Given the description of an element on the screen output the (x, y) to click on. 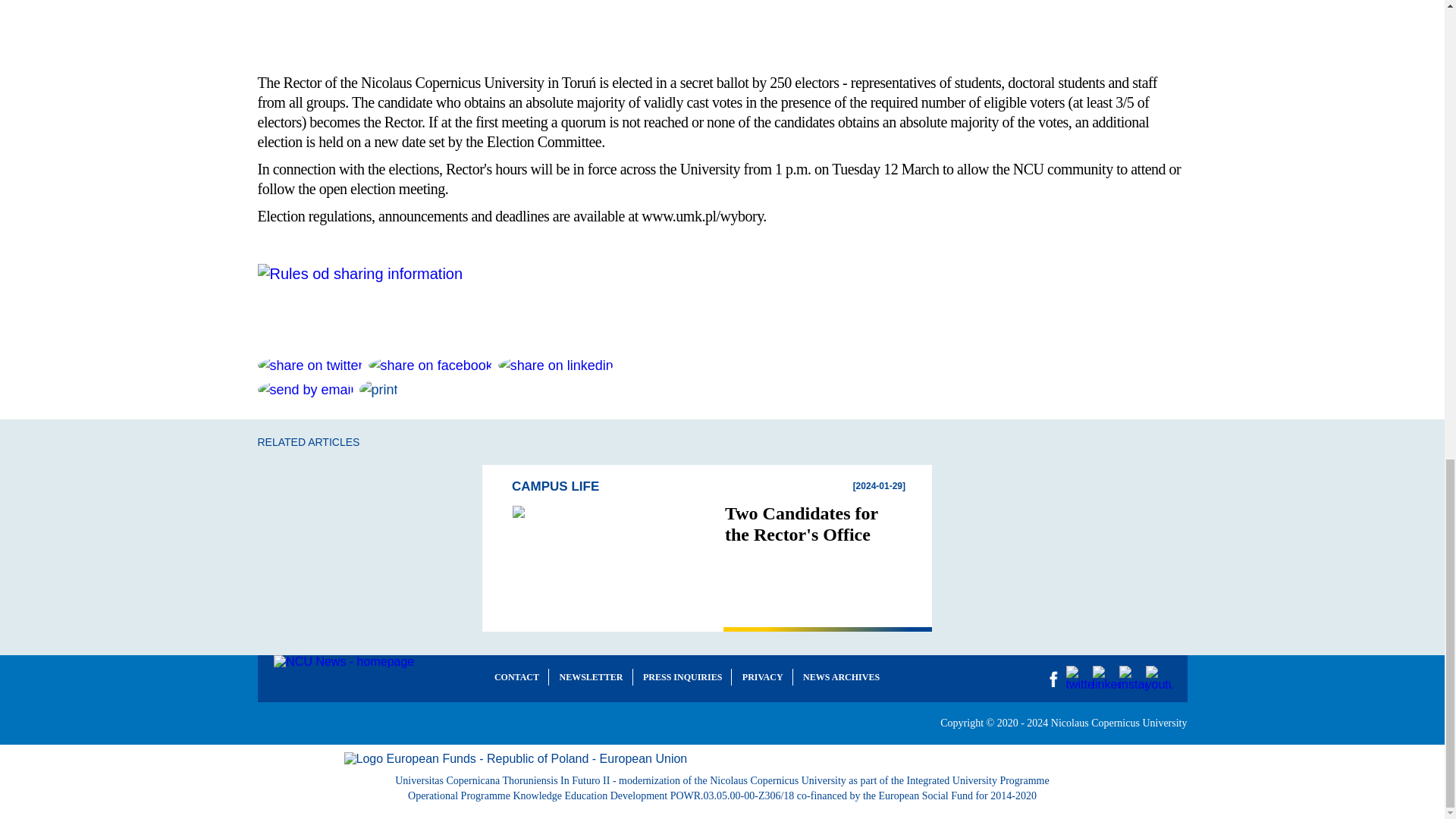
CAMPUS LIFE (713, 486)
European Funds - Republic of Poland - European Union (721, 758)
